Given the description of an element on the screen output the (x, y) to click on. 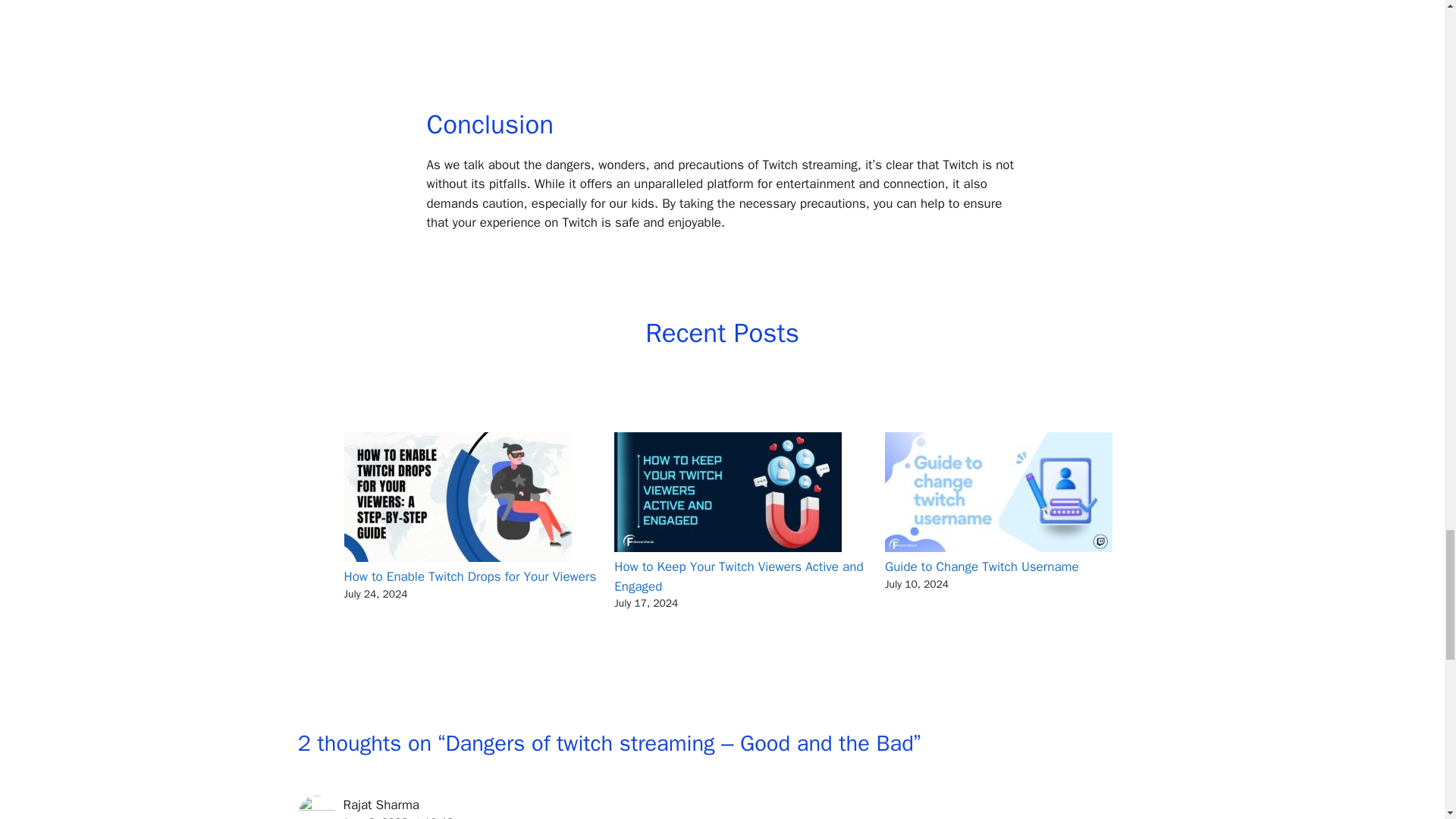
June 9, 2023 at 10:42 am (406, 816)
How to Enable Twitch Drops for Your Viewers (469, 576)
How to Keep Your Twitch Viewers Active and Engaged (738, 576)
Guide to Change Twitch Username (981, 566)
